Given the description of an element on the screen output the (x, y) to click on. 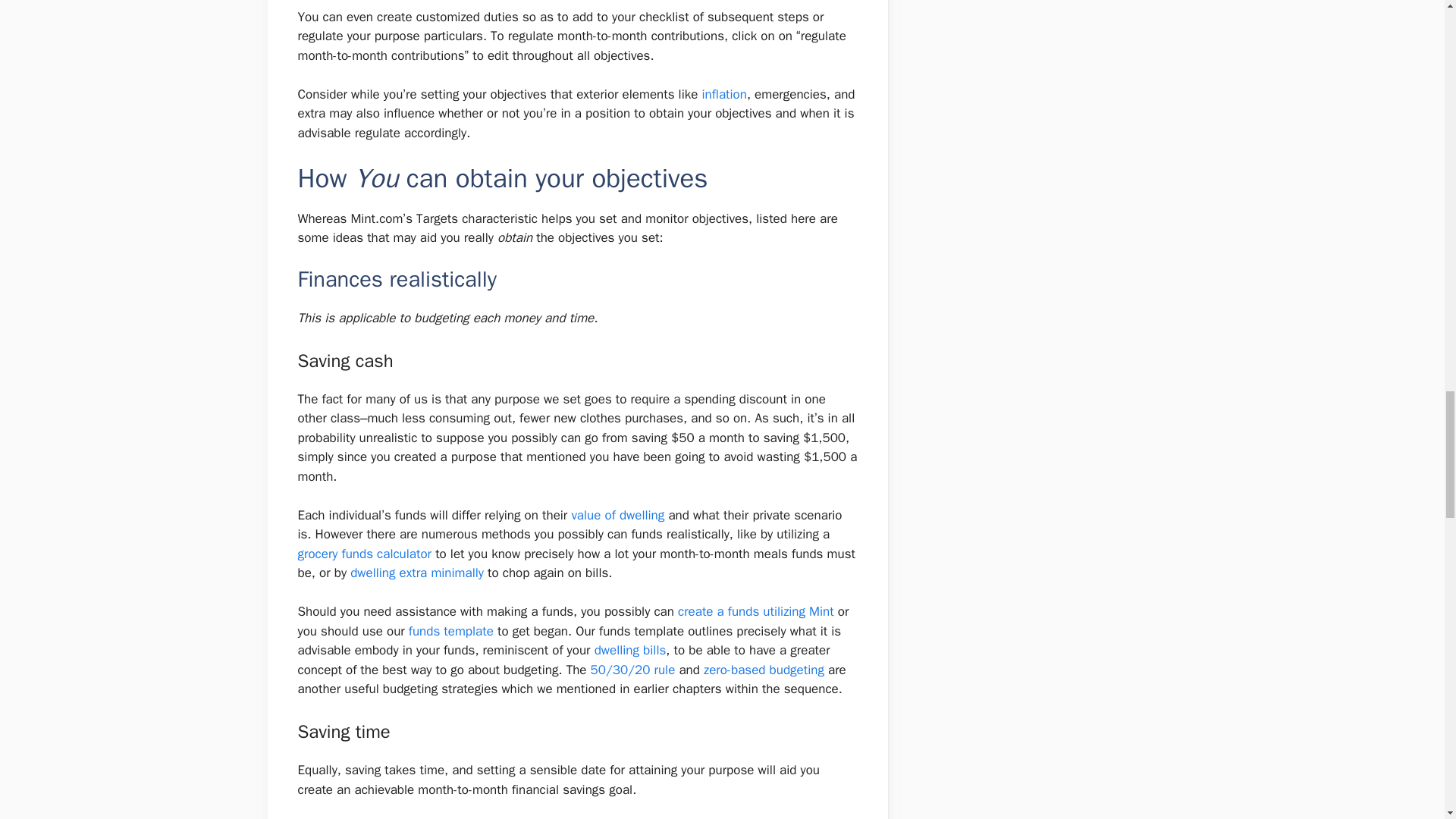
dwelling bills (630, 650)
zero-based budgeting (763, 669)
dwelling extra minimally (416, 572)
value of dwelling (616, 514)
inflation (723, 94)
grocery funds calculator (363, 553)
funds template (451, 631)
create a funds utilizing Mint (756, 611)
